Given the description of an element on the screen output the (x, y) to click on. 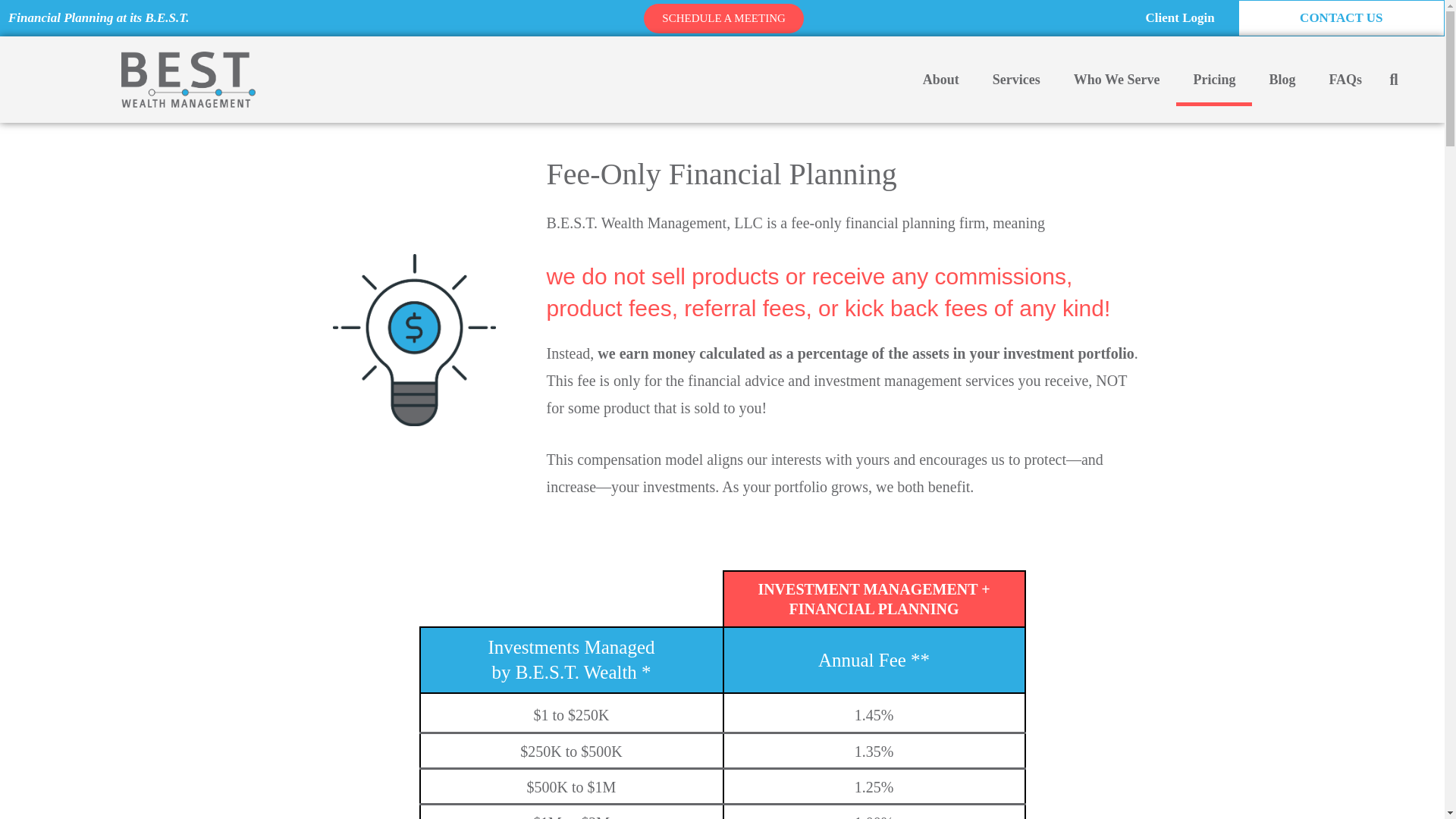
SCHEDULE A MEETING (723, 17)
Client Login (1180, 18)
Services (1016, 79)
FAQs (1344, 79)
About (940, 79)
Pricing (1214, 79)
Who We Serve (1116, 79)
Blog (1281, 79)
CONTACT US (1340, 18)
